Given the description of an element on the screen output the (x, y) to click on. 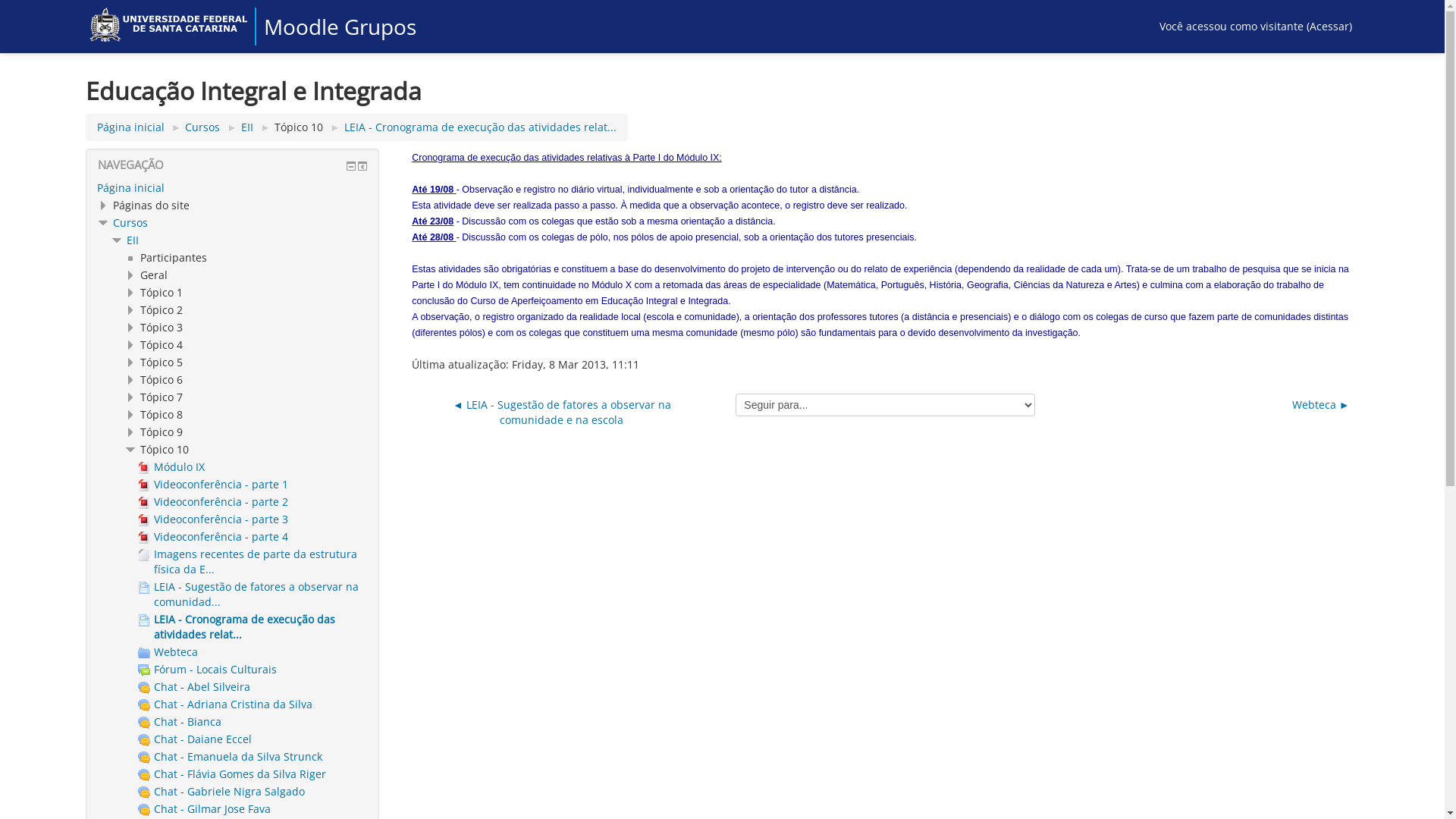
Arquivo Element type: hover (144, 537)
Arquivo Element type: hover (144, 467)
Chat - Gilmar Jose Fava Element type: text (204, 808)
Chat - Bianca Element type: text (179, 721)
Arquivo Element type: hover (144, 485)
EII Element type: text (131, 239)
Webteca Element type: text (167, 651)
Cursos Element type: text (129, 222)
Chat Element type: hover (144, 740)
Acessar Element type: text (1328, 25)
Chat - Daiane Eccel Element type: text (194, 738)
Chat Element type: hover (144, 705)
Chat Element type: hover (144, 774)
Arquivo Element type: hover (144, 520)
Arquivo Element type: hover (144, 502)
Cursos Element type: text (202, 126)
Chat Element type: hover (144, 809)
EII Element type: text (247, 126)
Chat - Adriana Cristina da Silva Element type: text (225, 703)
Chat - Abel Silveira Element type: text (194, 686)
Chat Element type: hover (144, 757)
Pasta Element type: hover (144, 652)
Arquivo Element type: hover (144, 555)
Chat Element type: hover (144, 687)
Chat Element type: hover (144, 792)
Chat - Gabriele Nigra Salgado Element type: text (221, 791)
Chat Element type: hover (144, 722)
Chat - Emanuela da Silva Strunck Element type: text (230, 756)
